Given the description of an element on the screen output the (x, y) to click on. 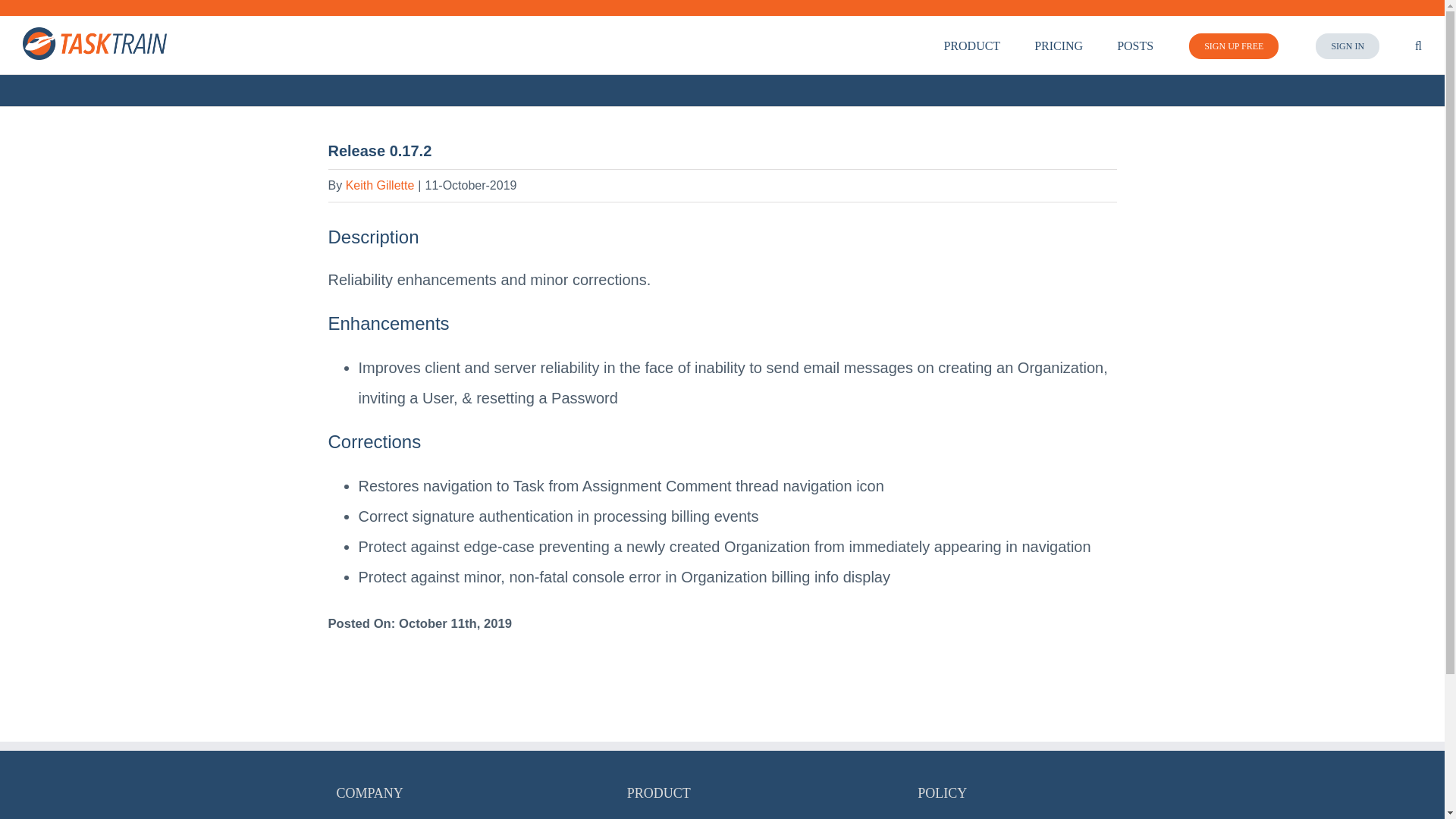
PRODUCT (971, 44)
SIGN IN (1347, 44)
Keith Gillette (380, 185)
SIGN UP FREE (1233, 44)
Posts by Keith Gillette (380, 185)
Sign up free (1233, 44)
